Given the description of an element on the screen output the (x, y) to click on. 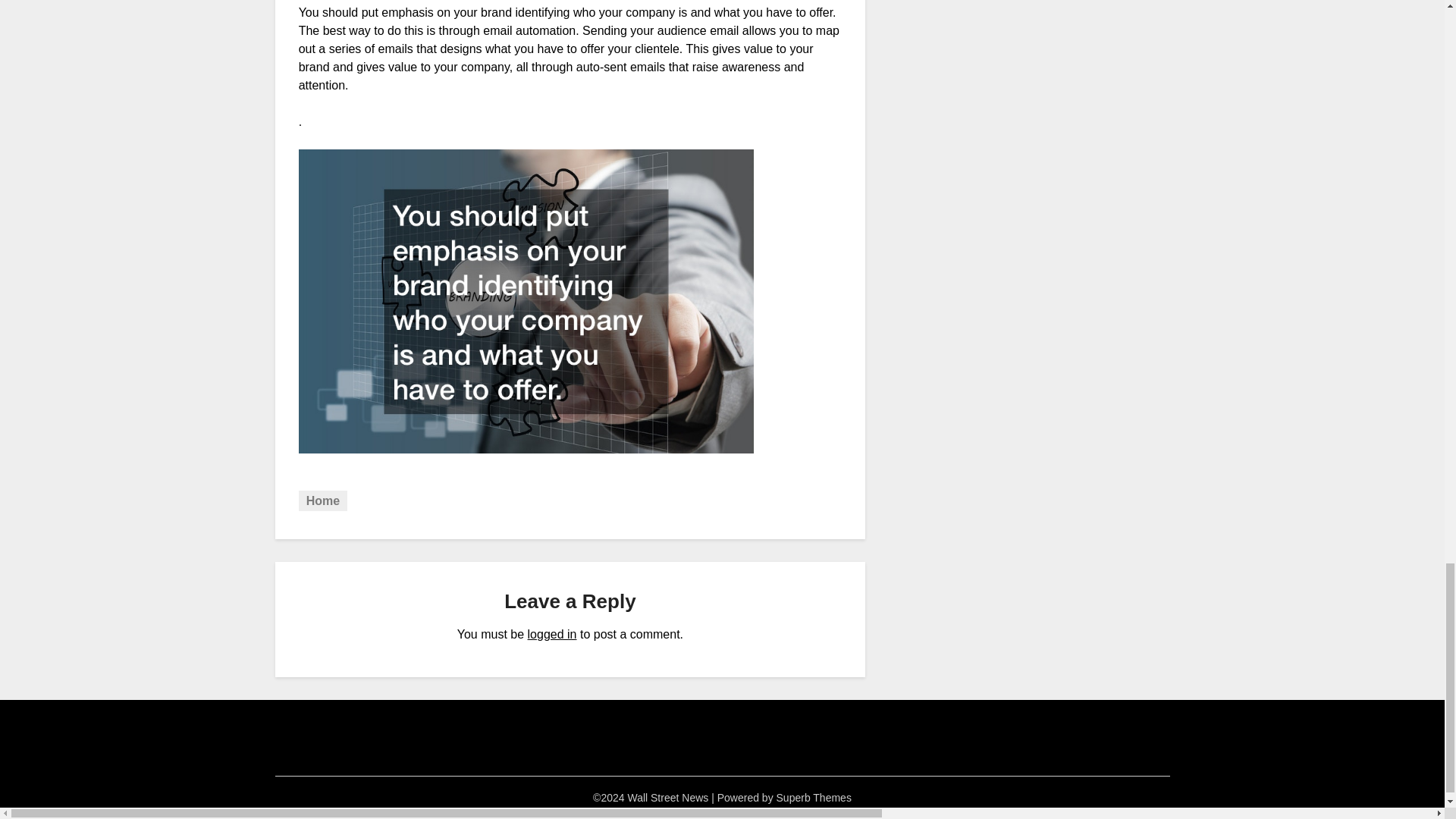
Home (322, 500)
Superb Themes (813, 797)
logged in (551, 634)
